Given the description of an element on the screen output the (x, y) to click on. 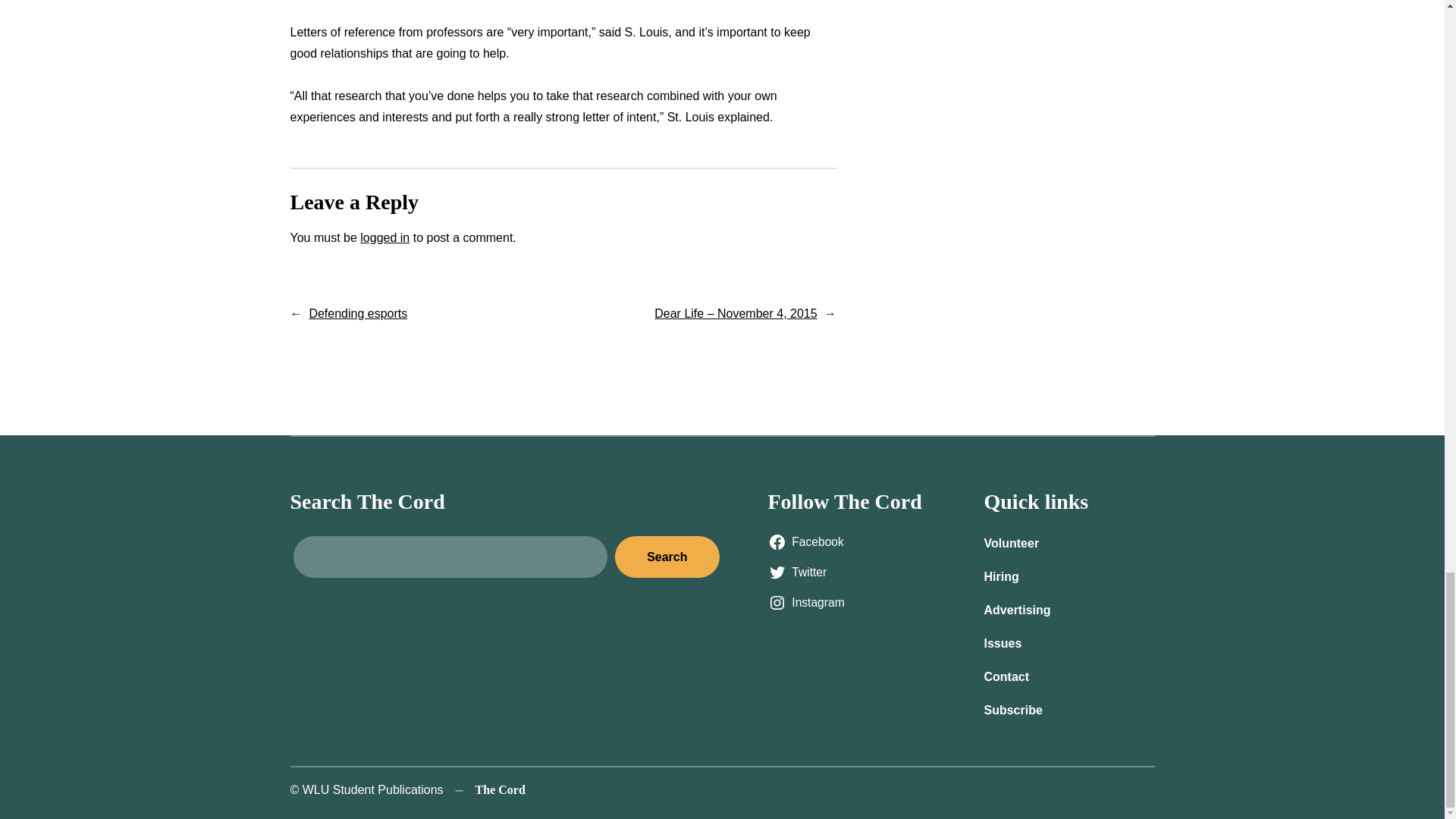
logged in (384, 237)
Defending esports (357, 313)
